Given the description of an element on the screen output the (x, y) to click on. 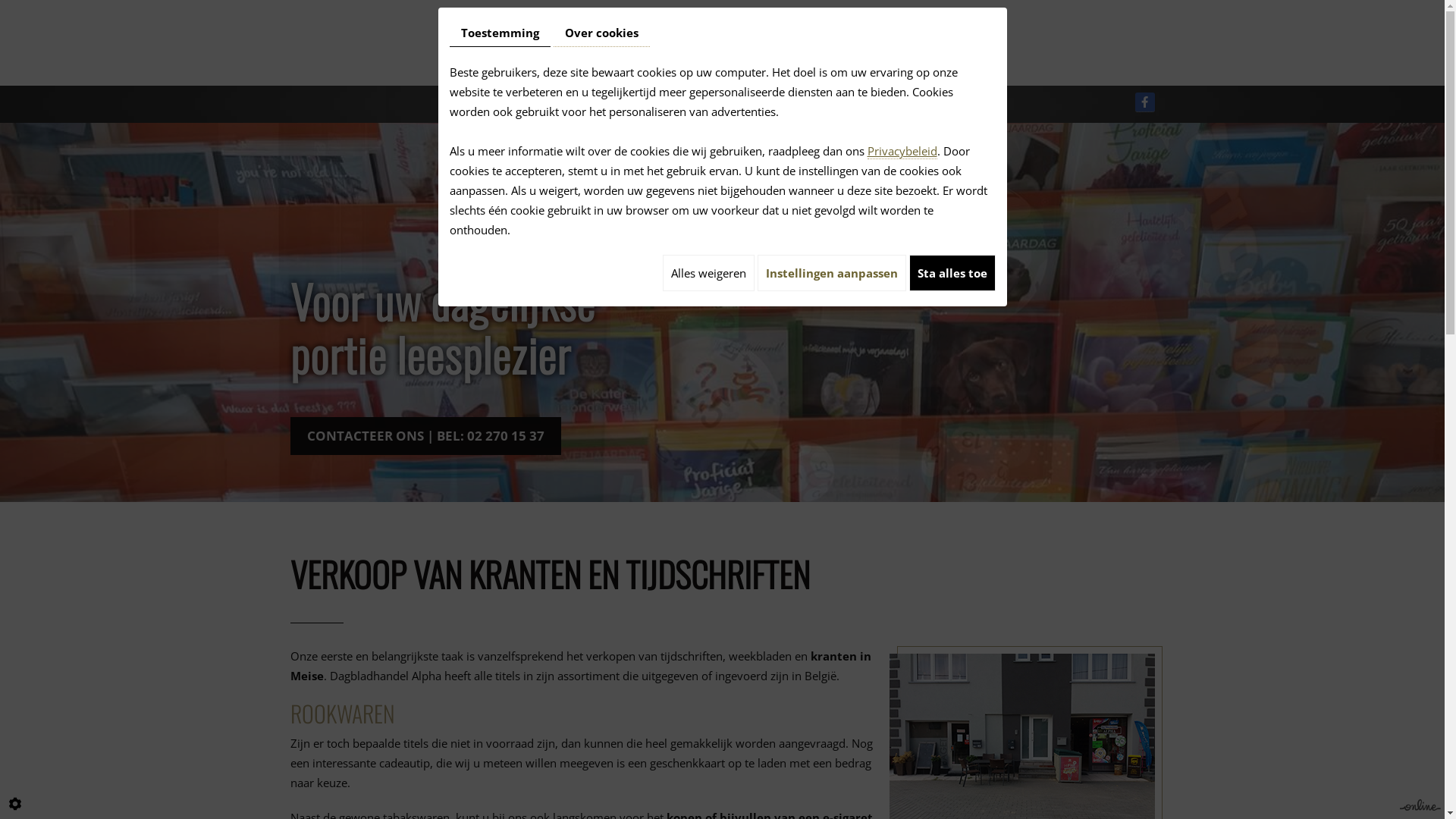
Alles weigeren Element type: text (708, 272)
DIENSTEN Element type: text (832, 103)
Over cookies Element type: text (601, 32)
CONTACT Element type: text (931, 103)
Privacybeleid Element type: text (902, 151)
Alpha Dagbladhandel - dagbladhandel Element type: hover (721, 42)
CONTACTEER ONS | BEL: 02 270 15 37 Element type: text (424, 436)
Facebook Element type: hover (1144, 102)
Sta alles toe Element type: text (951, 272)
Toestemming Element type: text (498, 32)
KRANTENRONDE Element type: text (714, 103)
Instellingen aanpassen Element type: text (830, 272)
ALGEMEEN Element type: text (593, 103)
HOME Element type: text (502, 103)
Cookie-instelling bewerken Element type: text (14, 803)
